Given the description of an element on the screen output the (x, y) to click on. 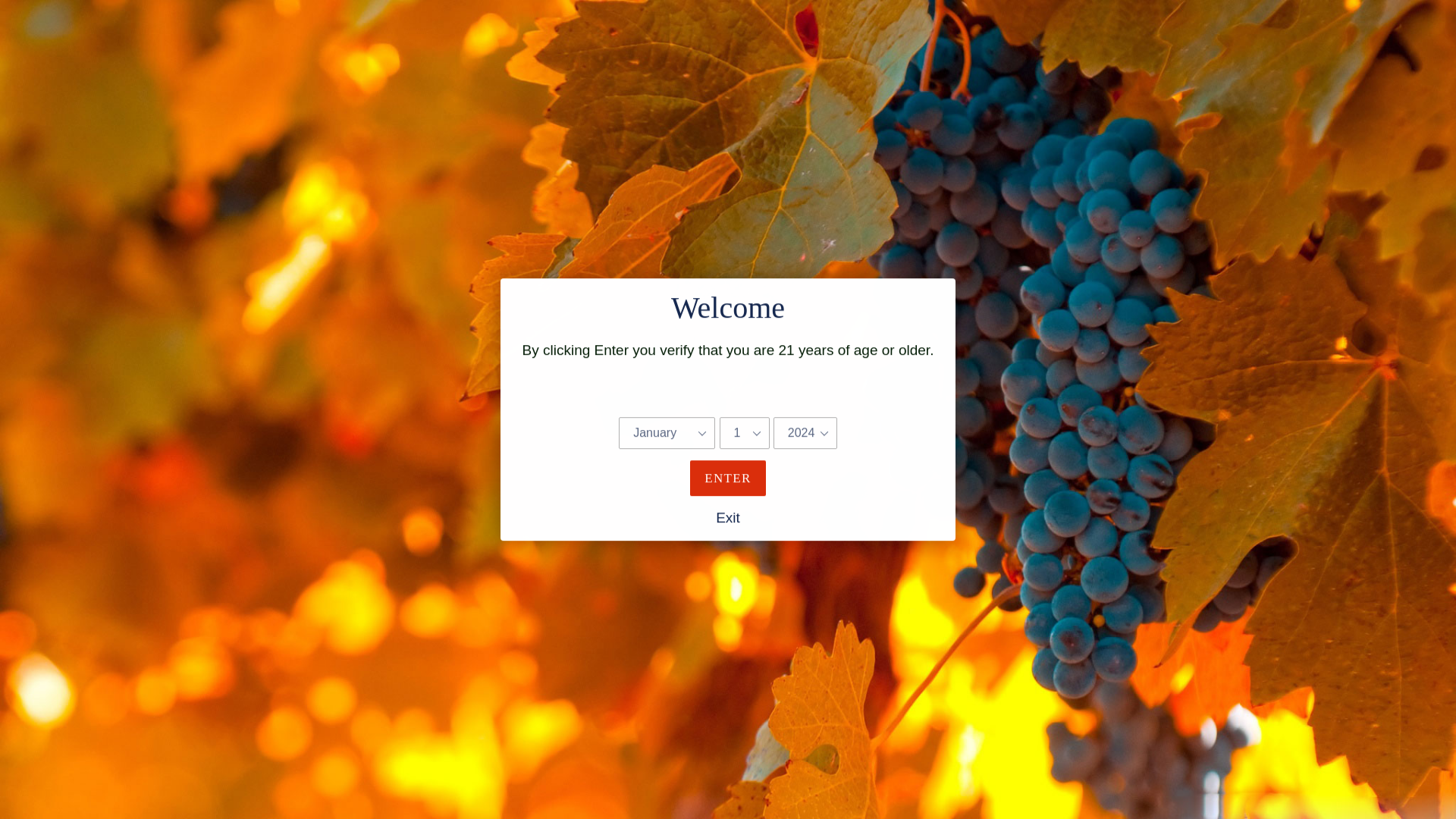
Catalog (789, 55)
ADD TO CART (966, 362)
Shipping (765, 274)
1 (776, 362)
Cart (1395, 55)
EWINENY.COM (693, 55)
Log in (1360, 55)
ENTER (727, 478)
Submit (1324, 54)
Exit (727, 523)
